Given the description of an element on the screen output the (x, y) to click on. 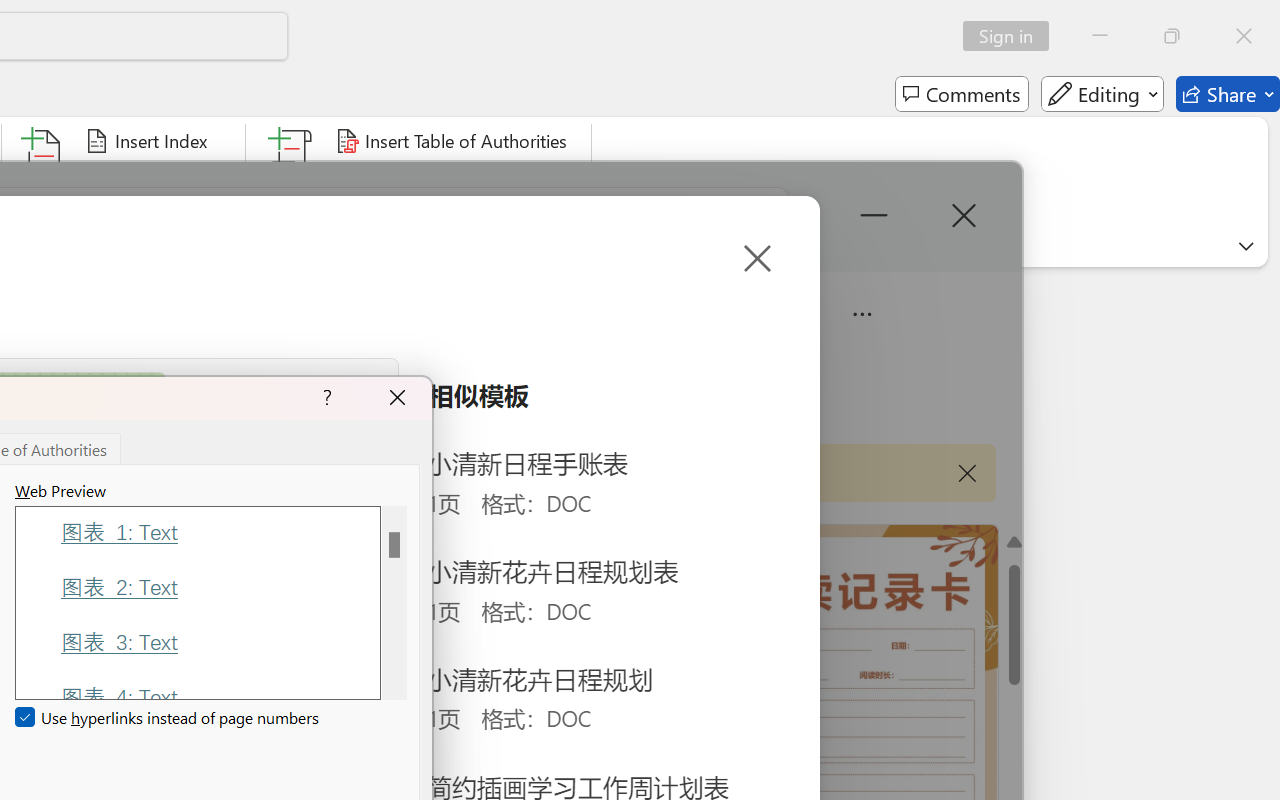
Update Table (404, 179)
Mark Citation... (292, 179)
Mark Entry... (44, 179)
Update Index (156, 179)
Editing (1101, 94)
Use hyperlinks instead of page numbers (168, 717)
Sign in (1012, 35)
